Given the description of an element on the screen output the (x, y) to click on. 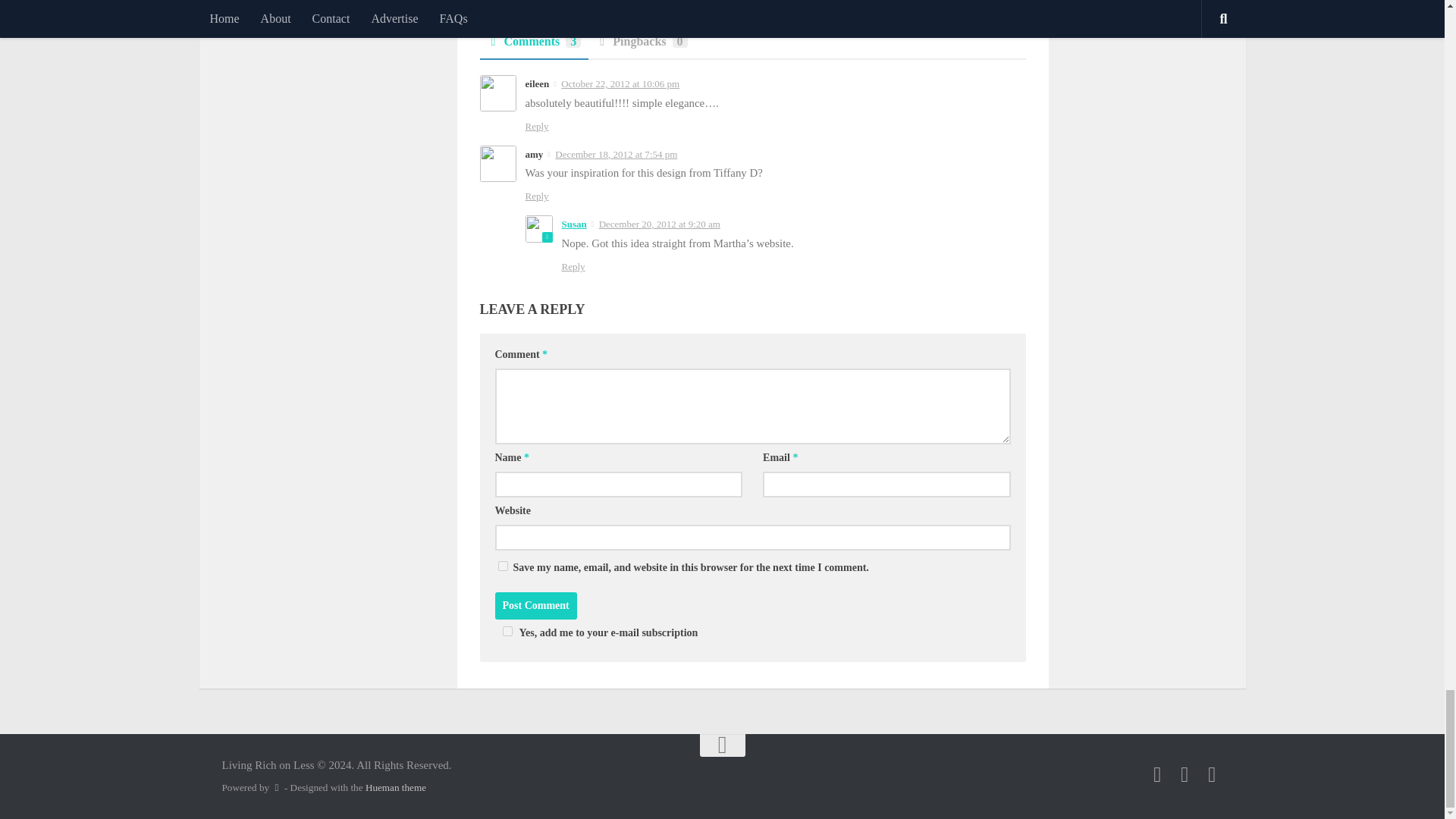
Post Comment (535, 605)
1 (506, 631)
yes (501, 565)
